Given the description of an element on the screen output the (x, y) to click on. 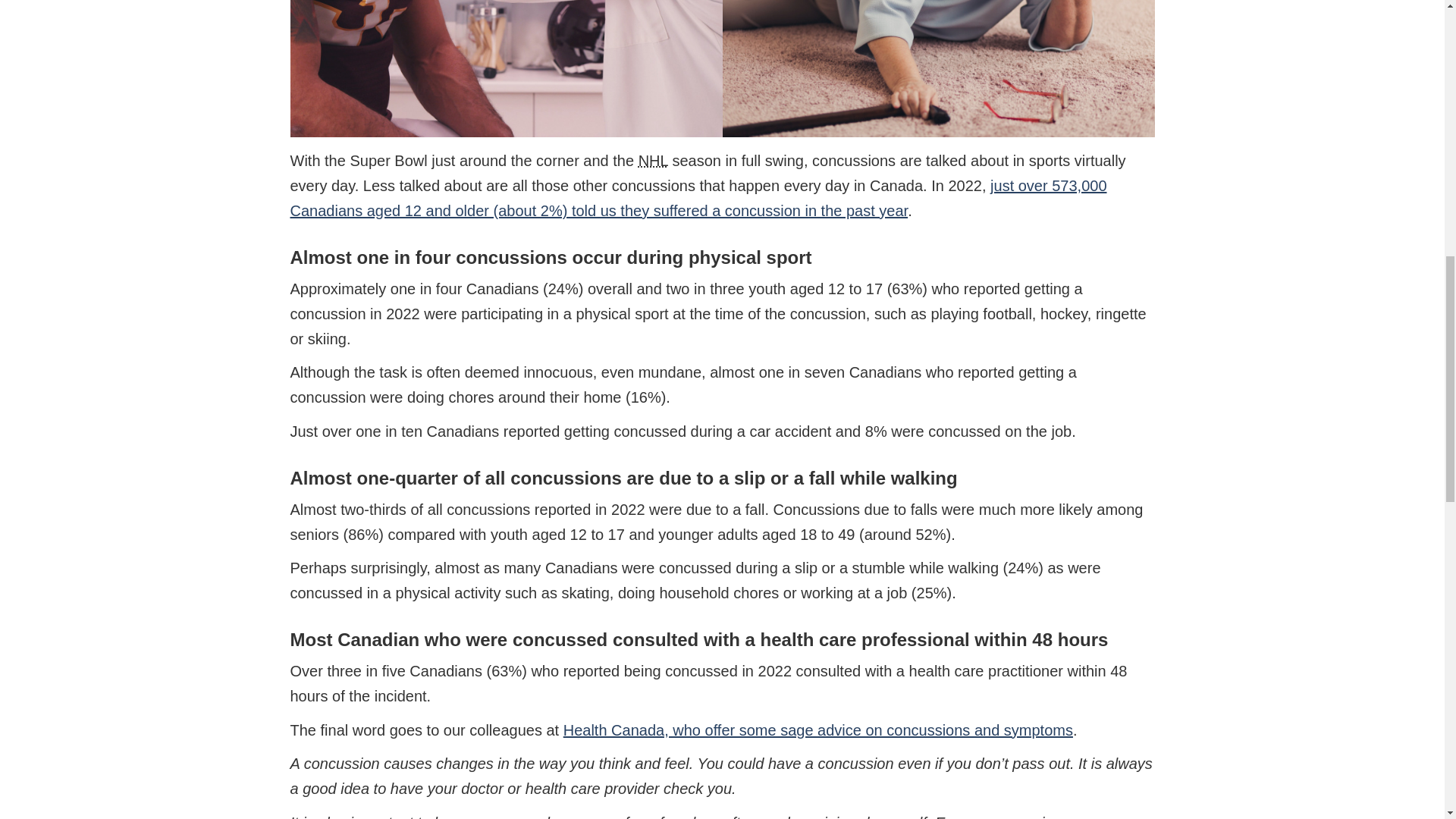
Concussion: Symptoms and treatment (818, 729)
National Hockey League  (653, 160)
Concussions happen at home too (721, 68)
Canadian Community Health Survey - Annual Component (697, 198)
